Given the description of an element on the screen output the (x, y) to click on. 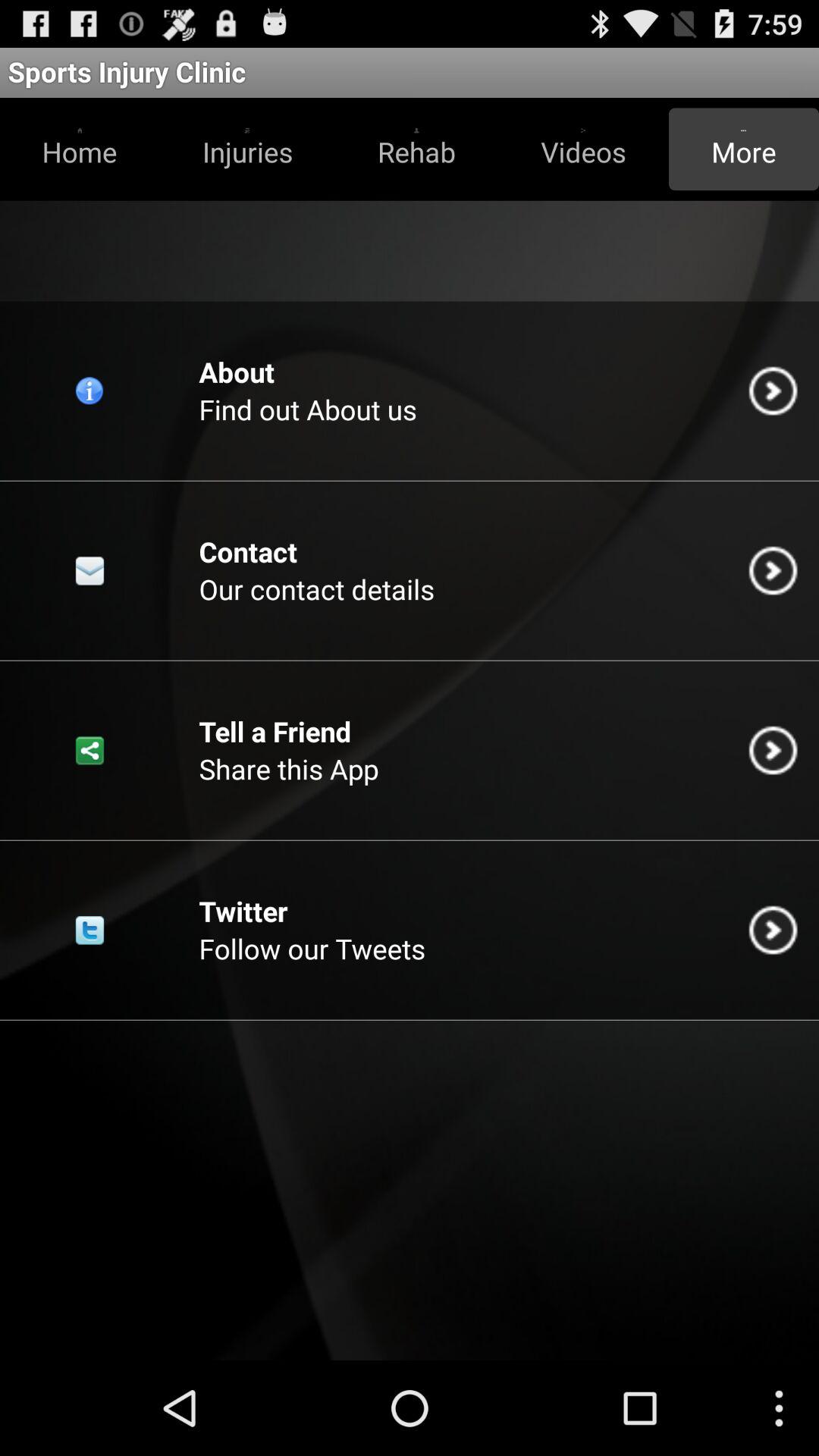
jump to the more icon (743, 149)
